Given the description of an element on the screen output the (x, y) to click on. 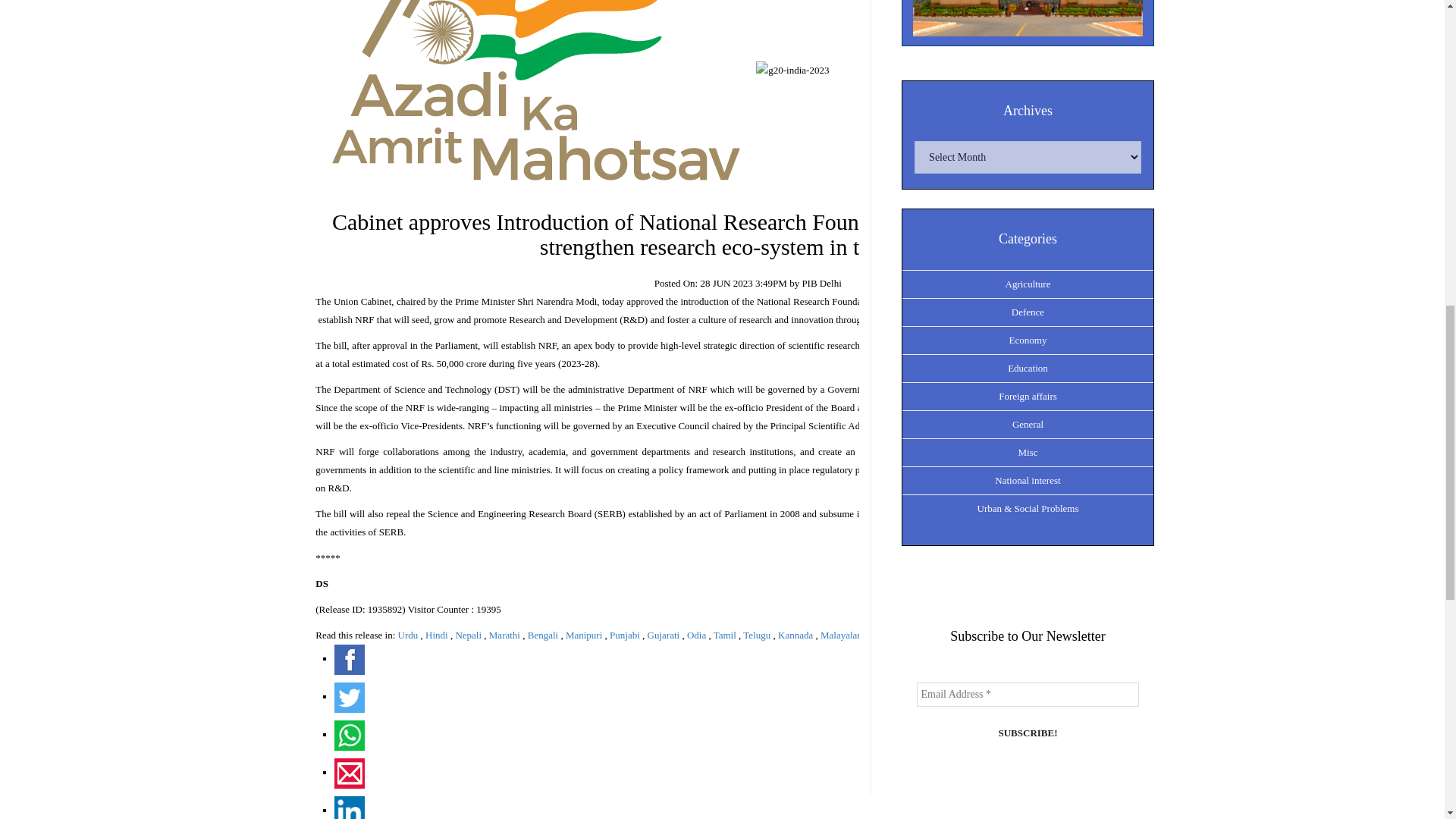
Subscribe! (1026, 733)
Email Address (1026, 694)
